Given the description of an element on the screen output the (x, y) to click on. 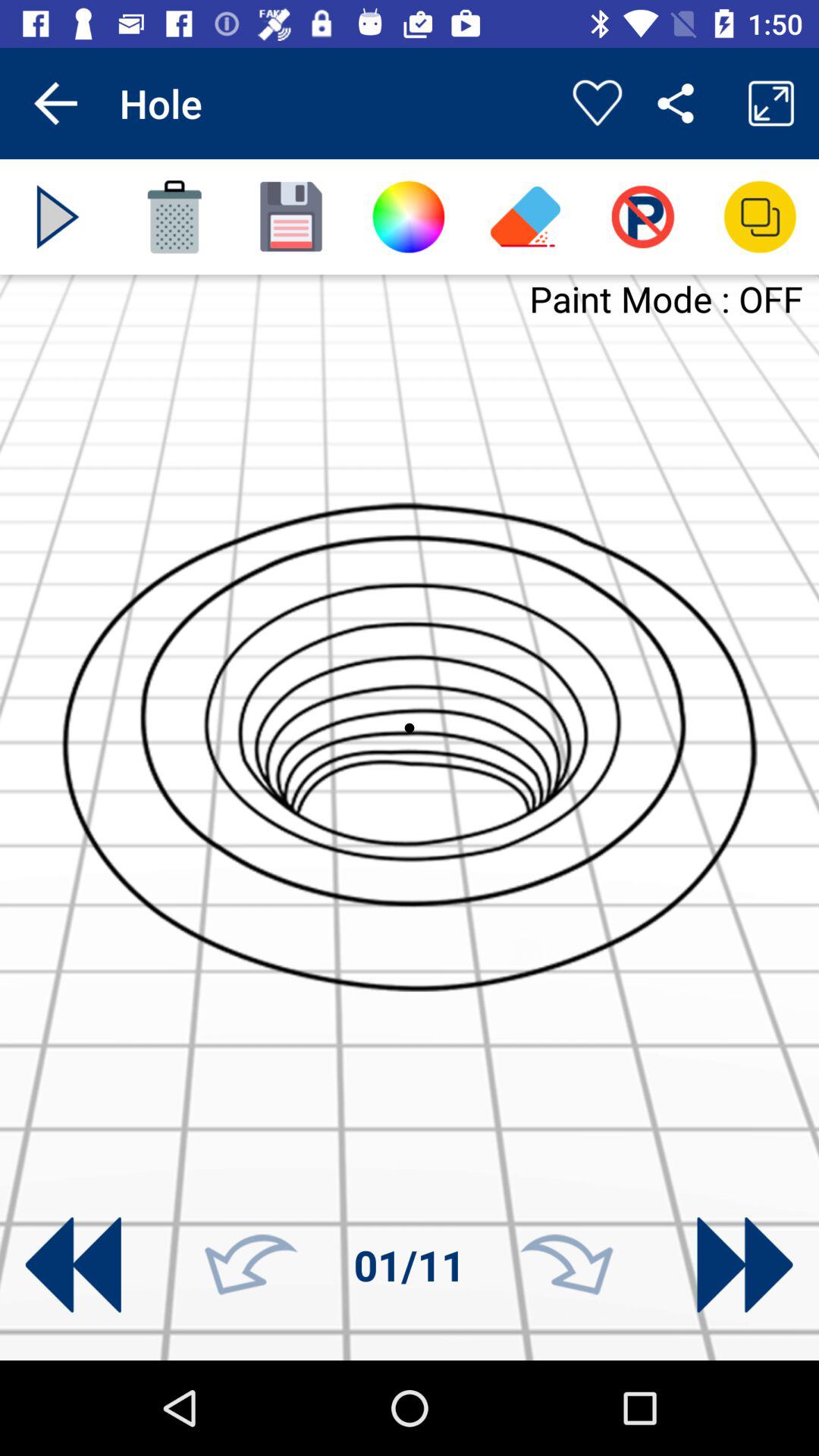
eraser icon (525, 216)
